Given the description of an element on the screen output the (x, y) to click on. 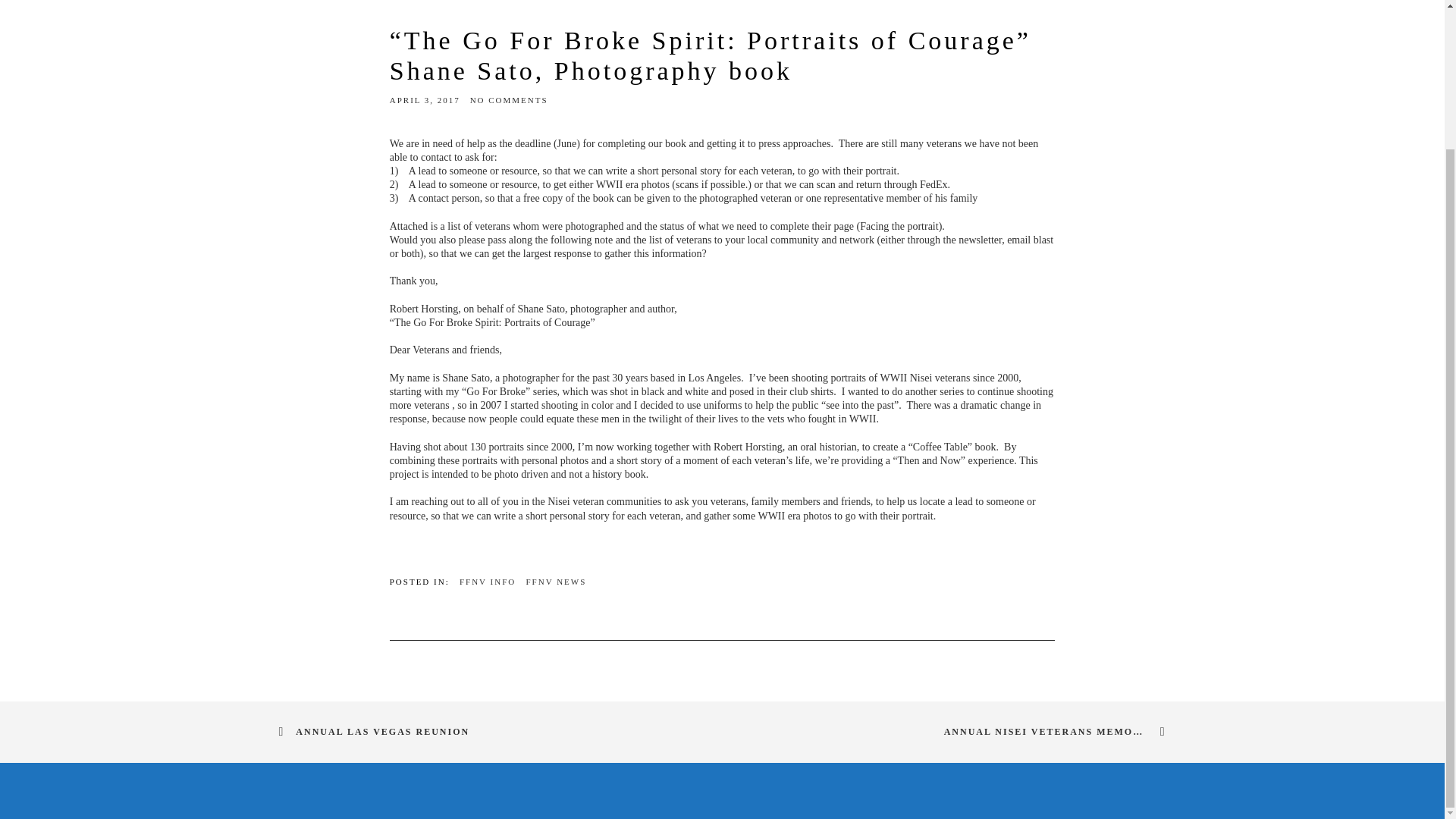
FFNV NEWS (555, 581)
ANNUAL LAS VEGAS REUNION (380, 730)
FFNV INFO (487, 581)
ANNUAL NISEI VETERANS MEMORIAL SERVICE (1049, 730)
NO COMMENTS (509, 99)
